Given the description of an element on the screen output the (x, y) to click on. 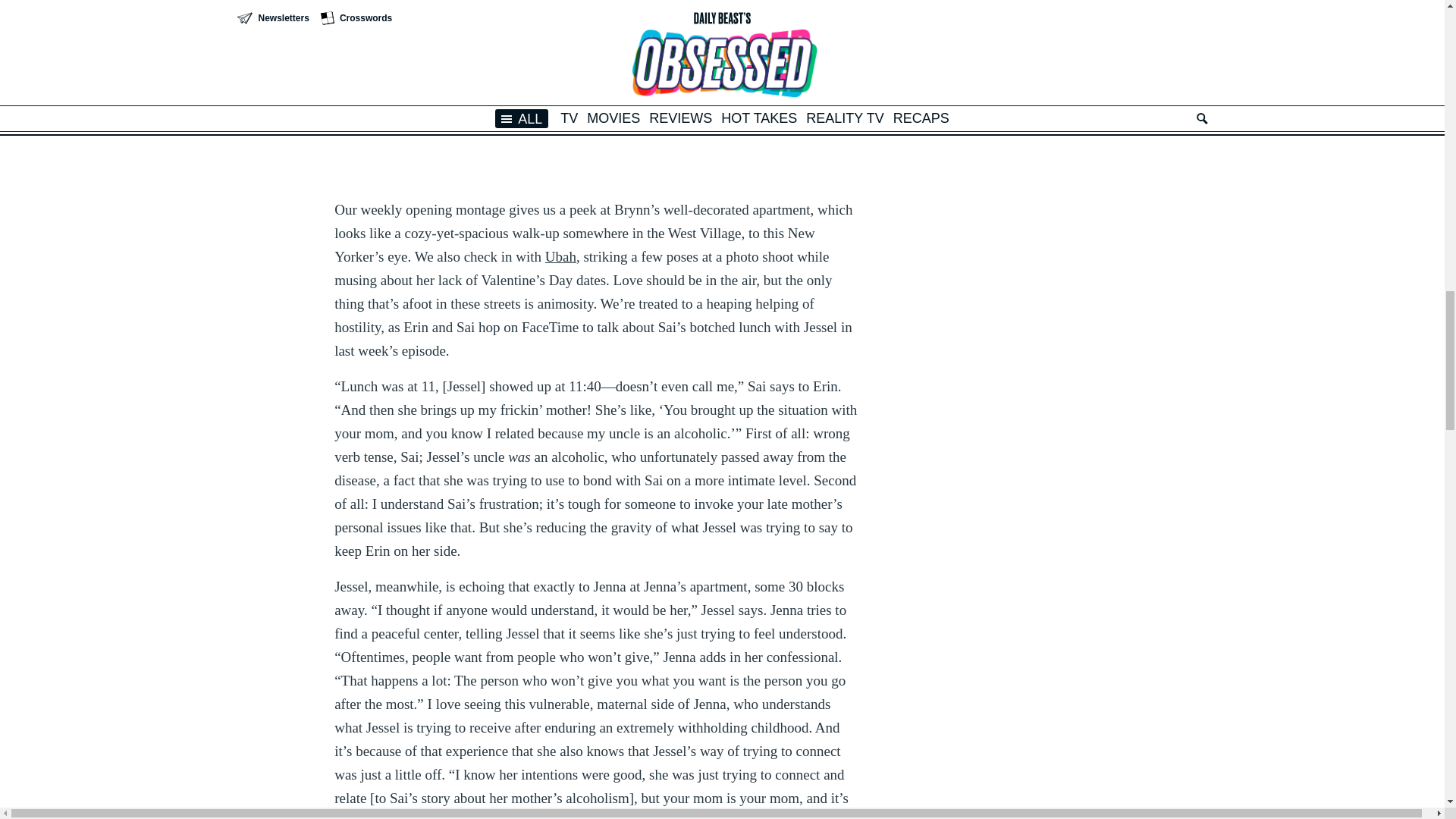
Ubah (560, 256)
